Given the description of an element on the screen output the (x, y) to click on. 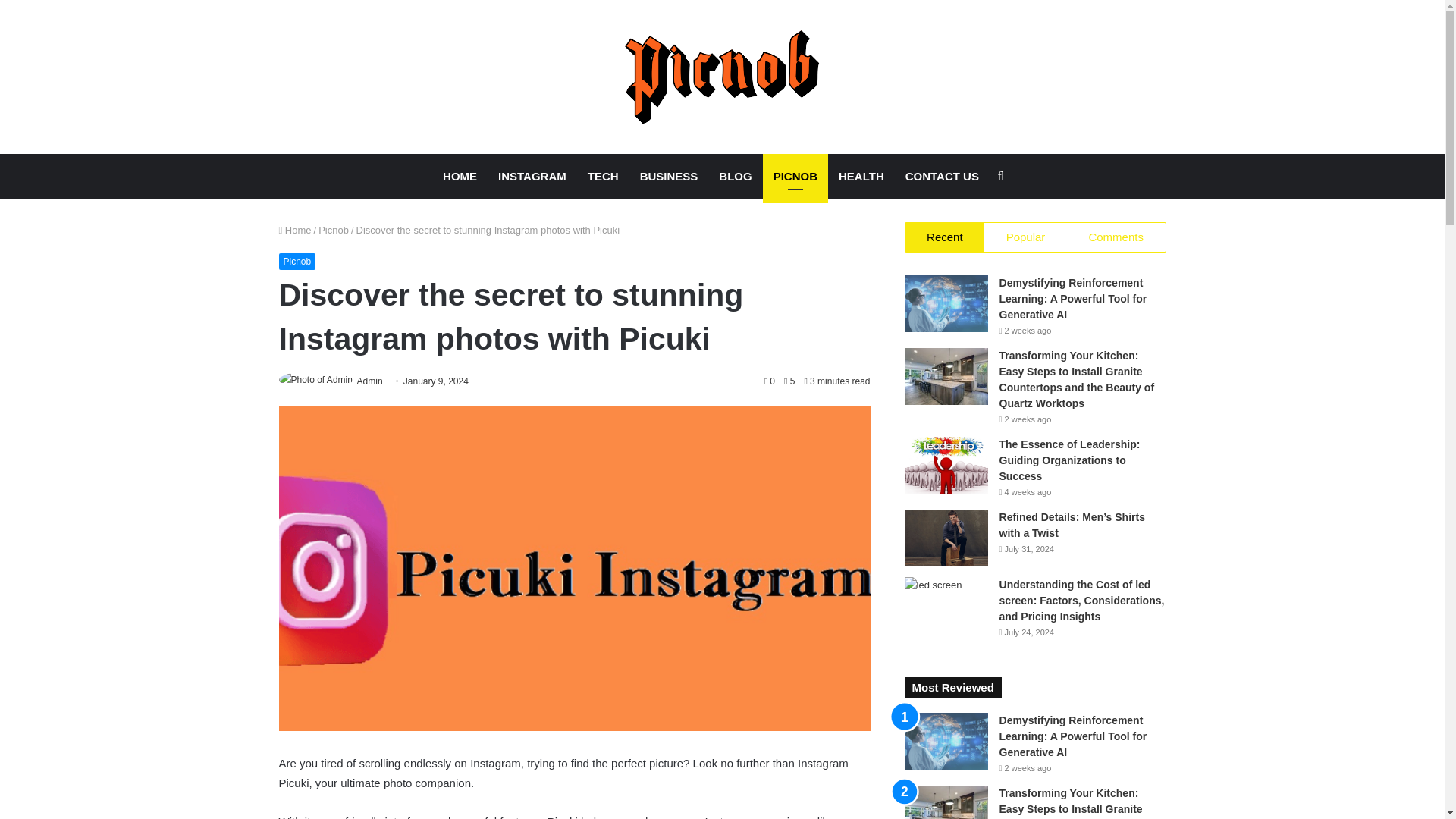
Picnob (297, 261)
Picnob (333, 229)
HOME (459, 176)
TECH (602, 176)
Recent (945, 236)
HEALTH (861, 176)
PICNOB (795, 176)
BUSINESS (668, 176)
BLOG (734, 176)
